Given the description of an element on the screen output the (x, y) to click on. 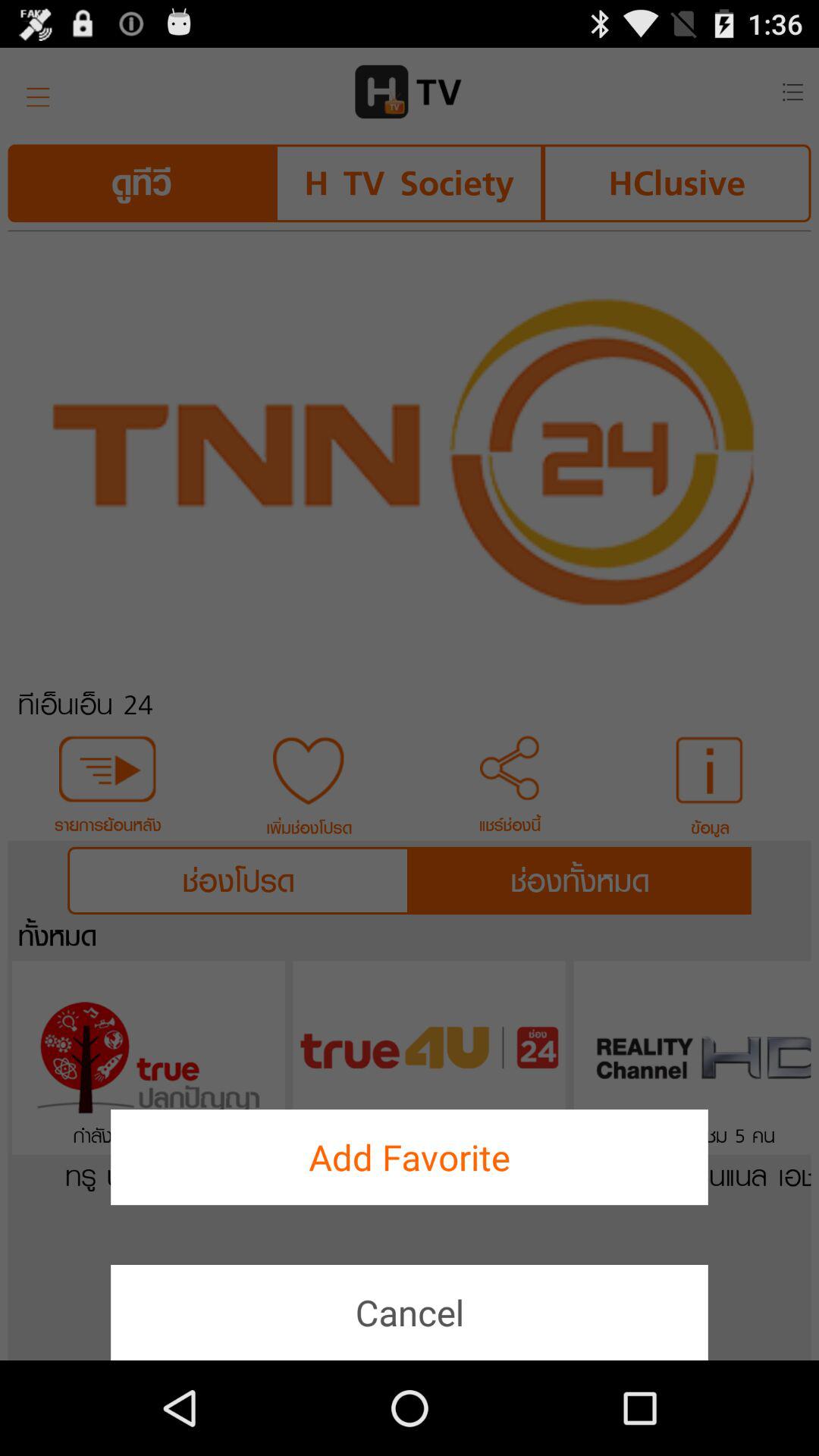
choose icon below add favorite item (409, 1312)
